Given the description of an element on the screen output the (x, y) to click on. 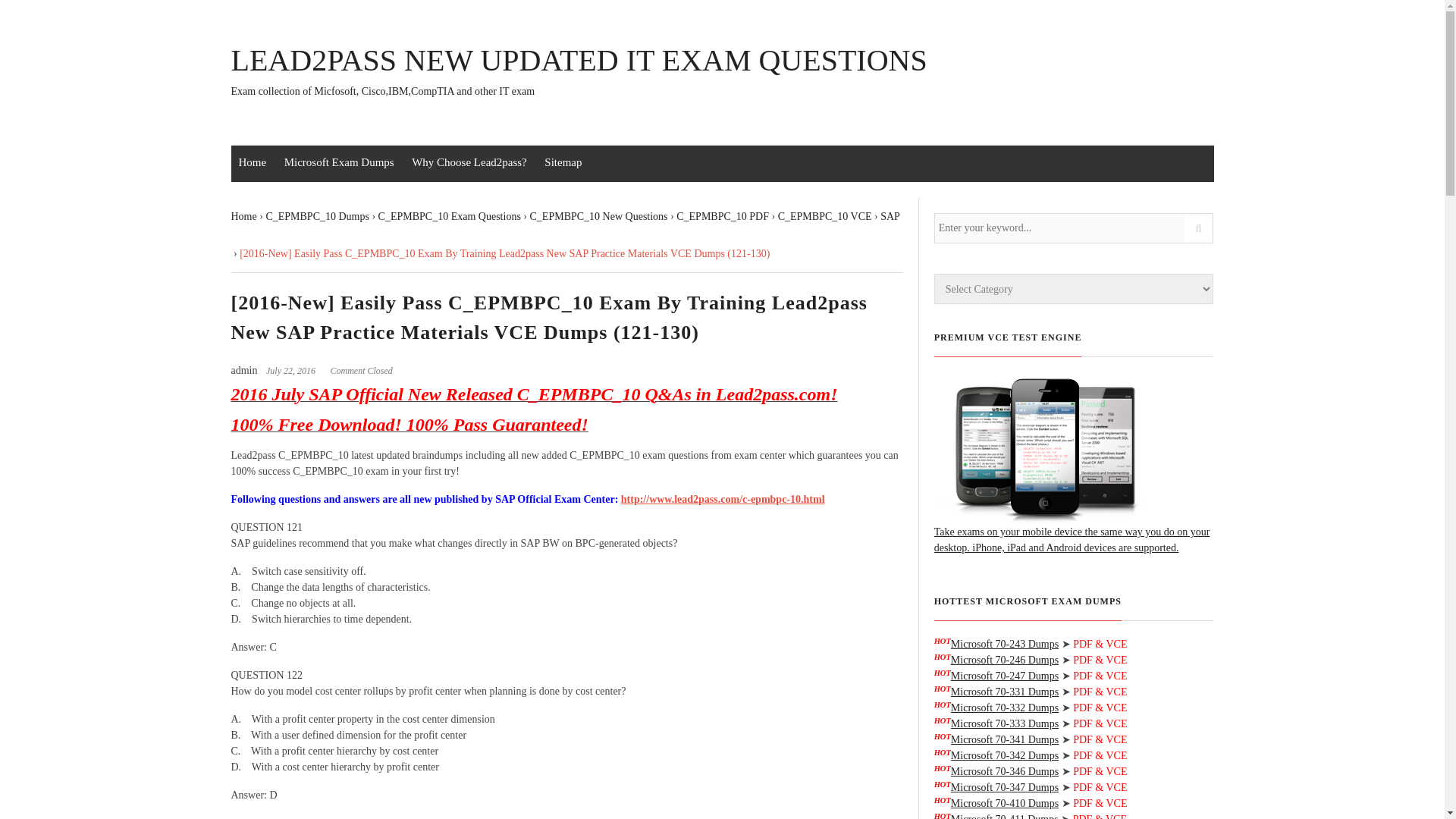
Why Choose Lead2pass? (469, 162)
Microsoft Exam Dumps (338, 162)
Home (251, 162)
Sitemap (563, 162)
SAP (889, 215)
Lead2pass New Updated IT Exam Questions (578, 72)
Home (243, 215)
